Given the description of an element on the screen output the (x, y) to click on. 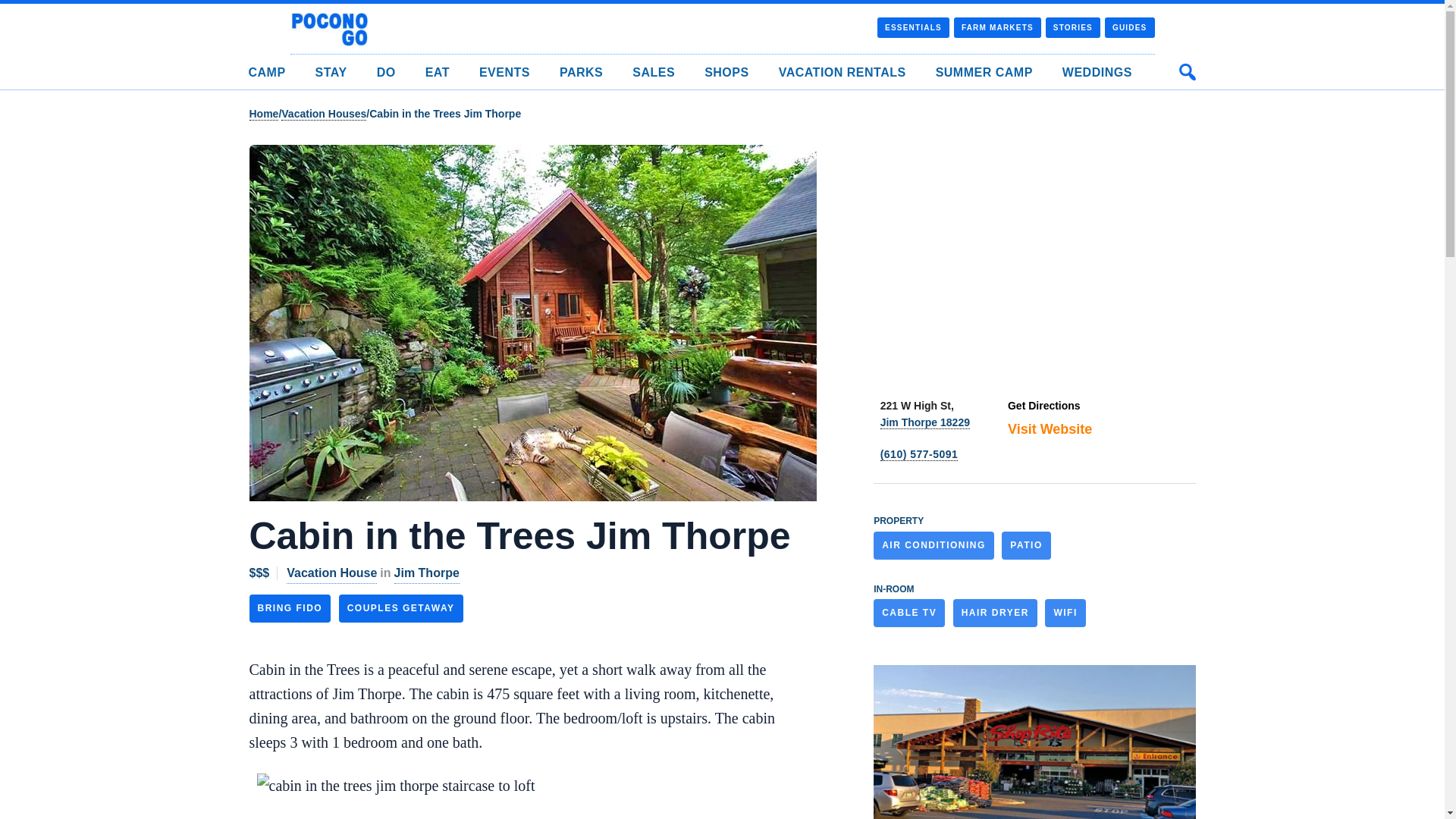
SALES (653, 72)
WEDDINGS (1097, 72)
Get directions (1043, 405)
FARM MARKETS (997, 27)
Vacation House (331, 573)
STORIES (1072, 27)
Visit Website (1049, 428)
Vacation Houses (323, 113)
SHOPS (726, 72)
STAY (331, 72)
